Given the description of an element on the screen output the (x, y) to click on. 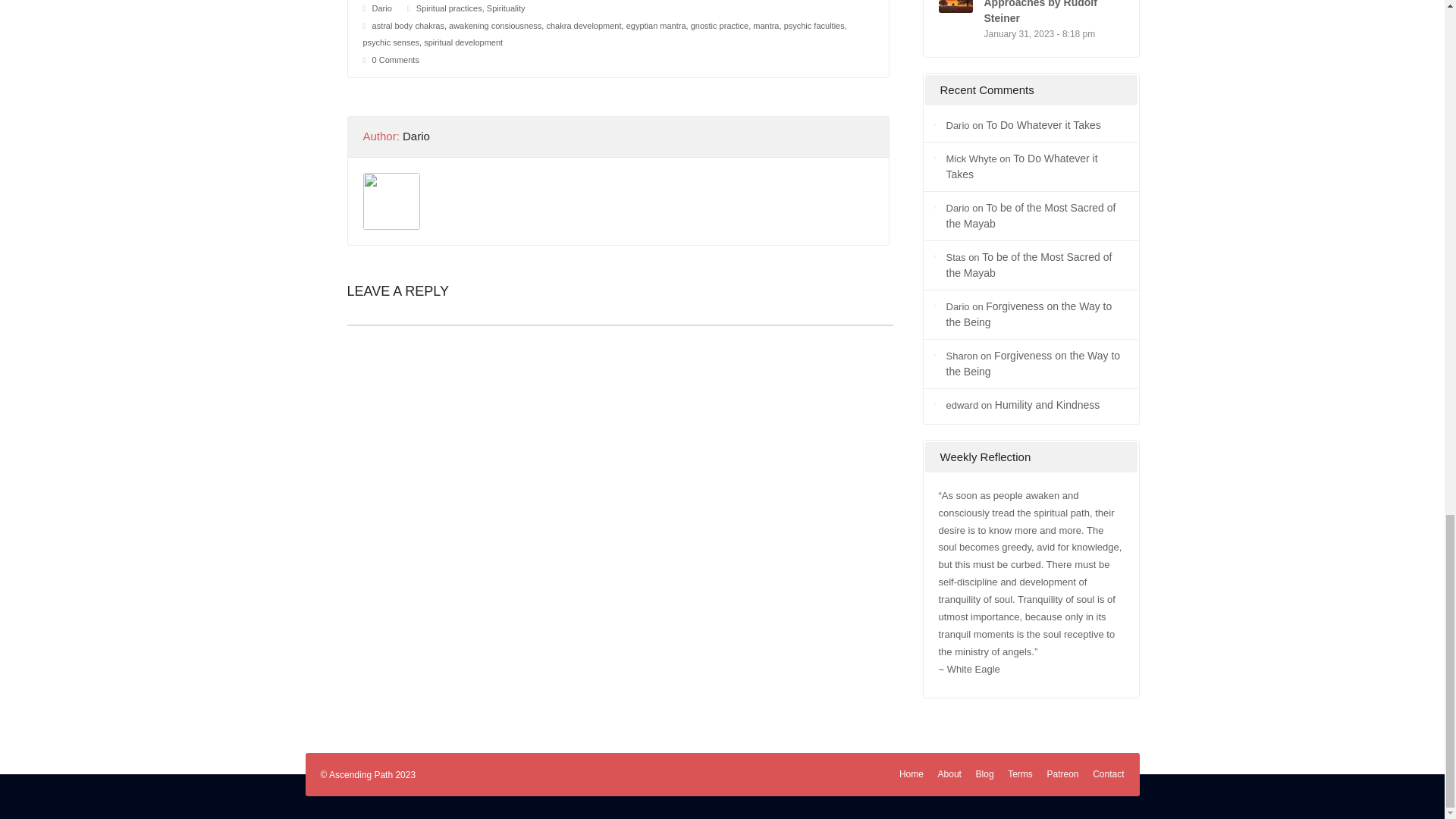
View all posts in Spiritual practices (448, 8)
View all posts in Spirituality (505, 8)
